Given the description of an element on the screen output the (x, y) to click on. 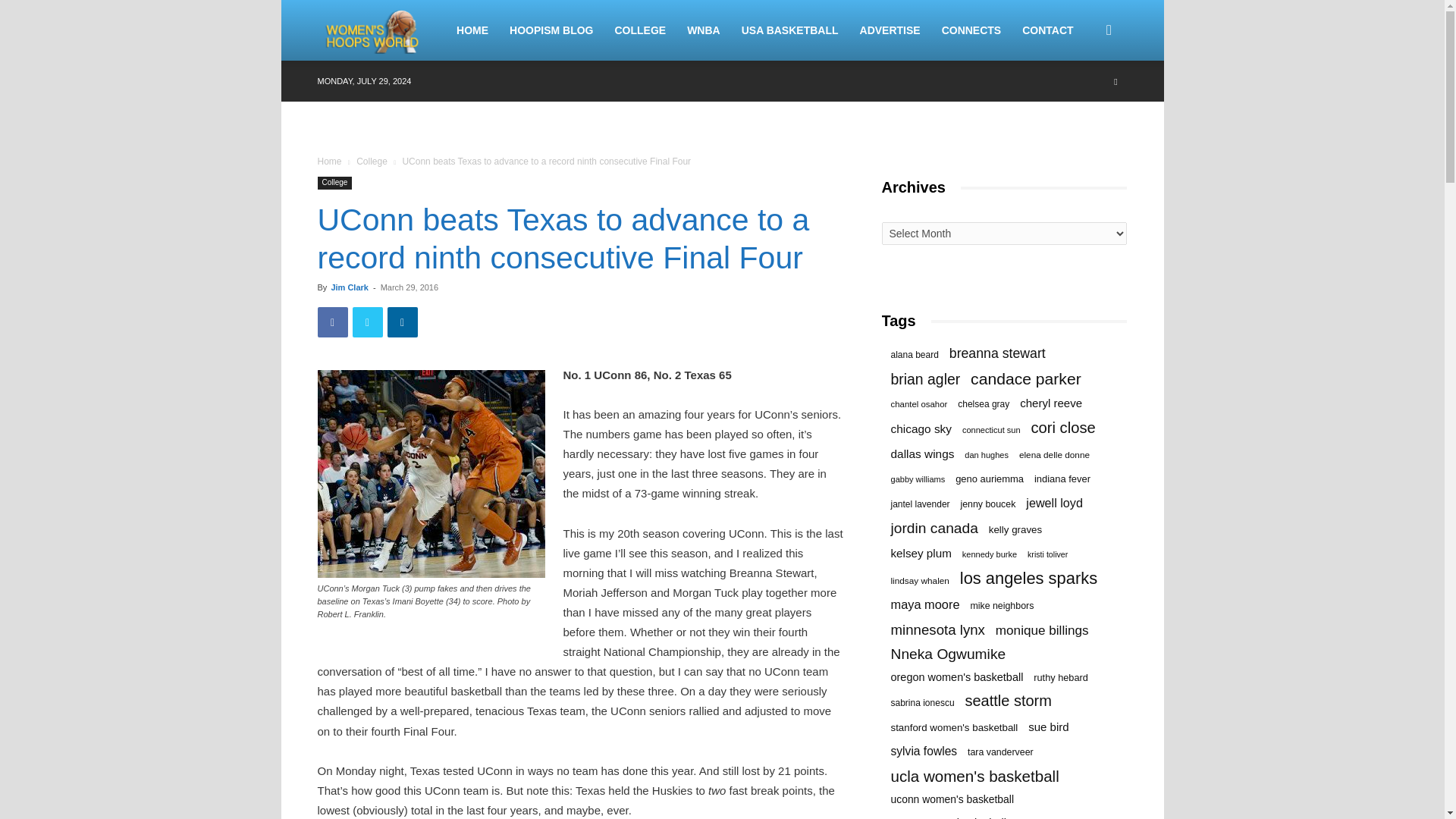
College (371, 161)
HOOPISM BLOG (551, 30)
CONNECTS (971, 30)
Linkedin (401, 322)
Search (1085, 102)
Home (328, 161)
Twitter (366, 322)
WNBA (703, 30)
Womens Hoops World (373, 30)
College (334, 182)
View all posts in College (371, 161)
Jim Clark (349, 286)
USA BASKETBALL (789, 30)
COLLEGE (640, 30)
Facebook (332, 322)
